Given the description of an element on the screen output the (x, y) to click on. 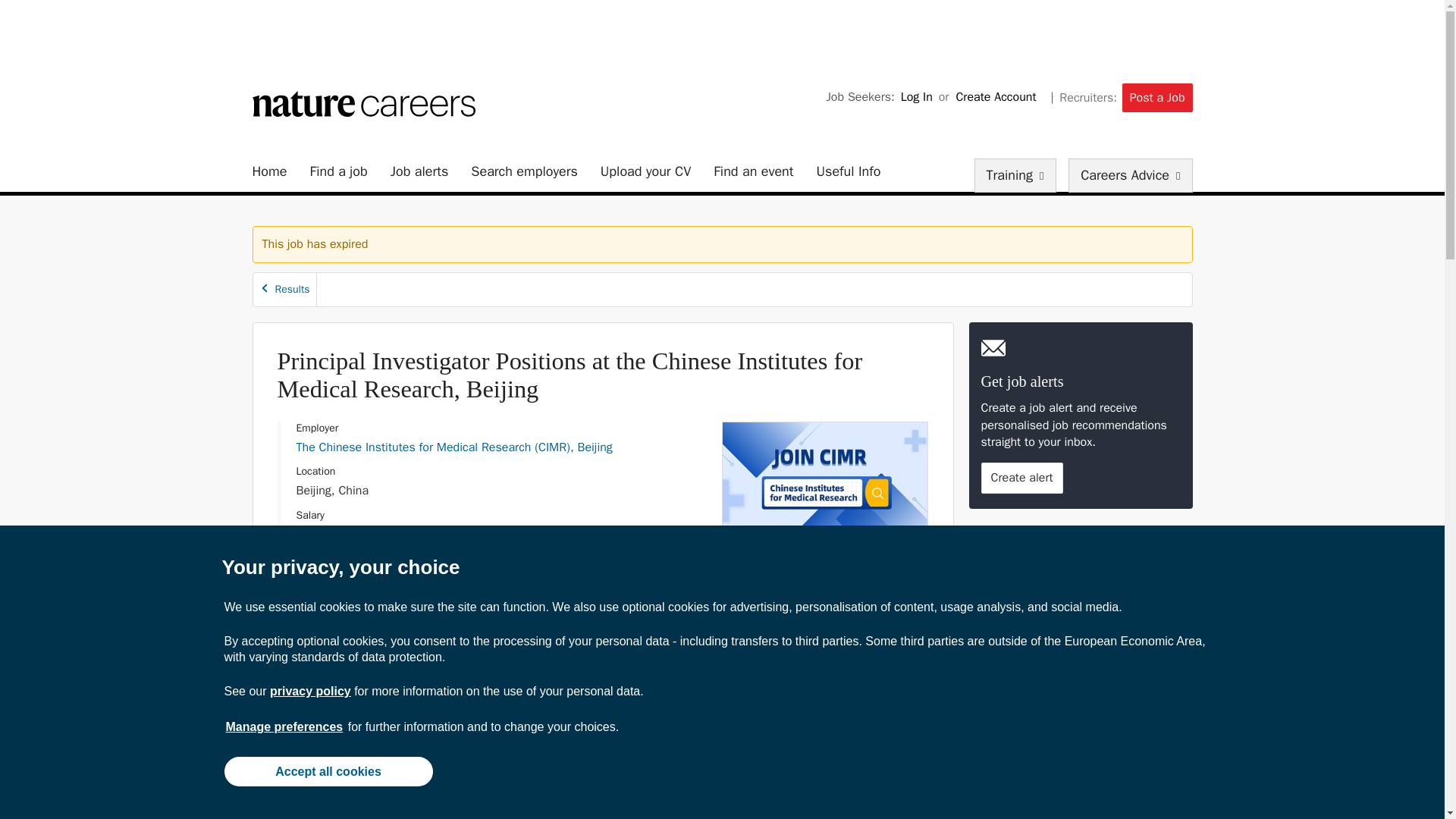
Job alerts (419, 170)
Find an event (753, 170)
Nature Careers (362, 103)
Manage preferences (284, 726)
Create Account (995, 96)
3rd party ad content (1082, 618)
Accept all cookies (328, 771)
3rd party ad content (721, 33)
Post a Job (1157, 97)
Search employers (524, 170)
